Given the description of an element on the screen output the (x, y) to click on. 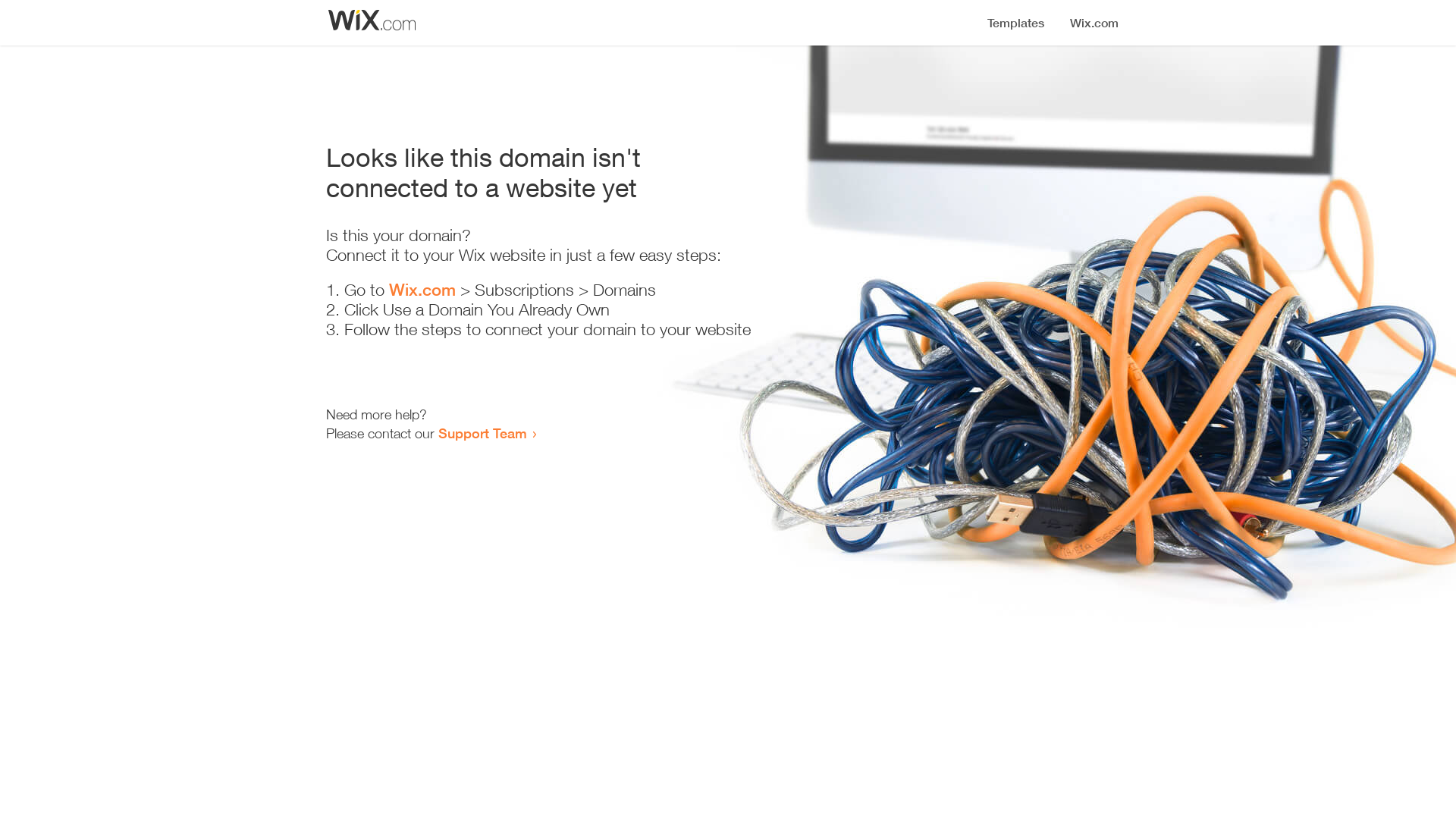
Wix.com Element type: text (422, 289)
Support Team Element type: text (482, 432)
